Given the description of an element on the screen output the (x, y) to click on. 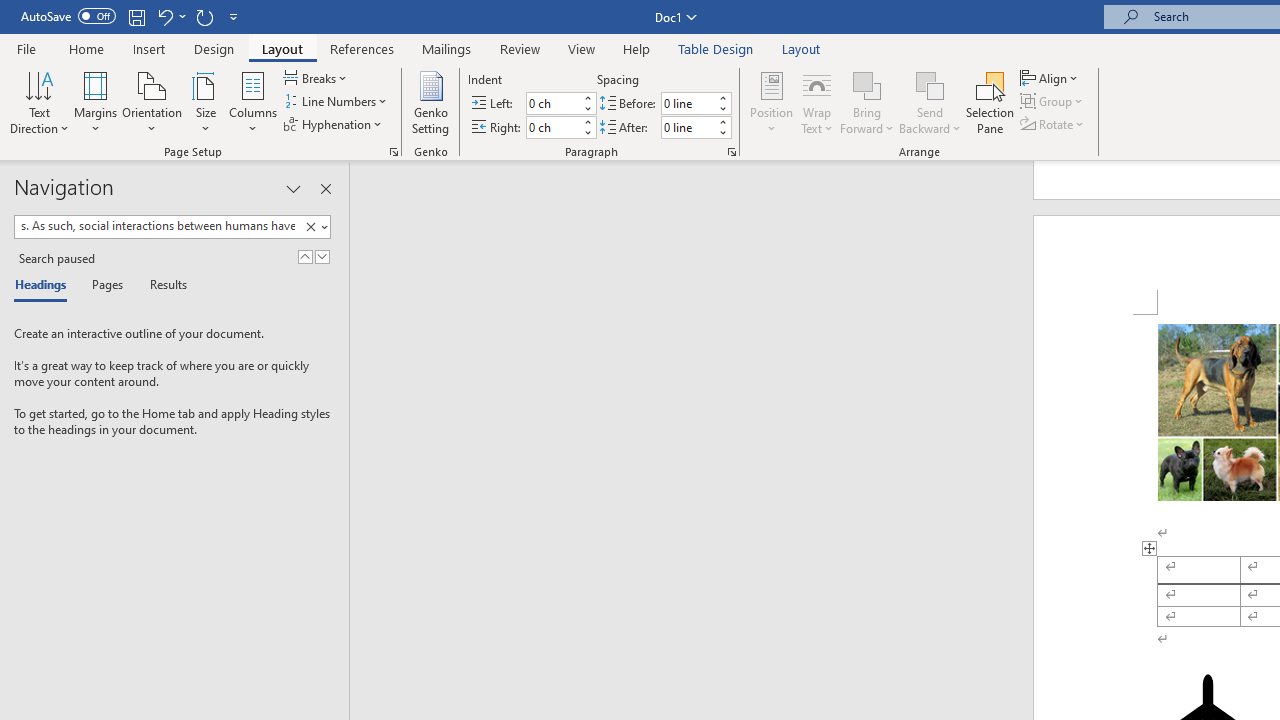
Line Numbers (337, 101)
Repeat Style (204, 15)
Bring Forward (867, 84)
Genko Setting... (430, 102)
Spacing After (687, 127)
